Given the description of an element on the screen output the (x, y) to click on. 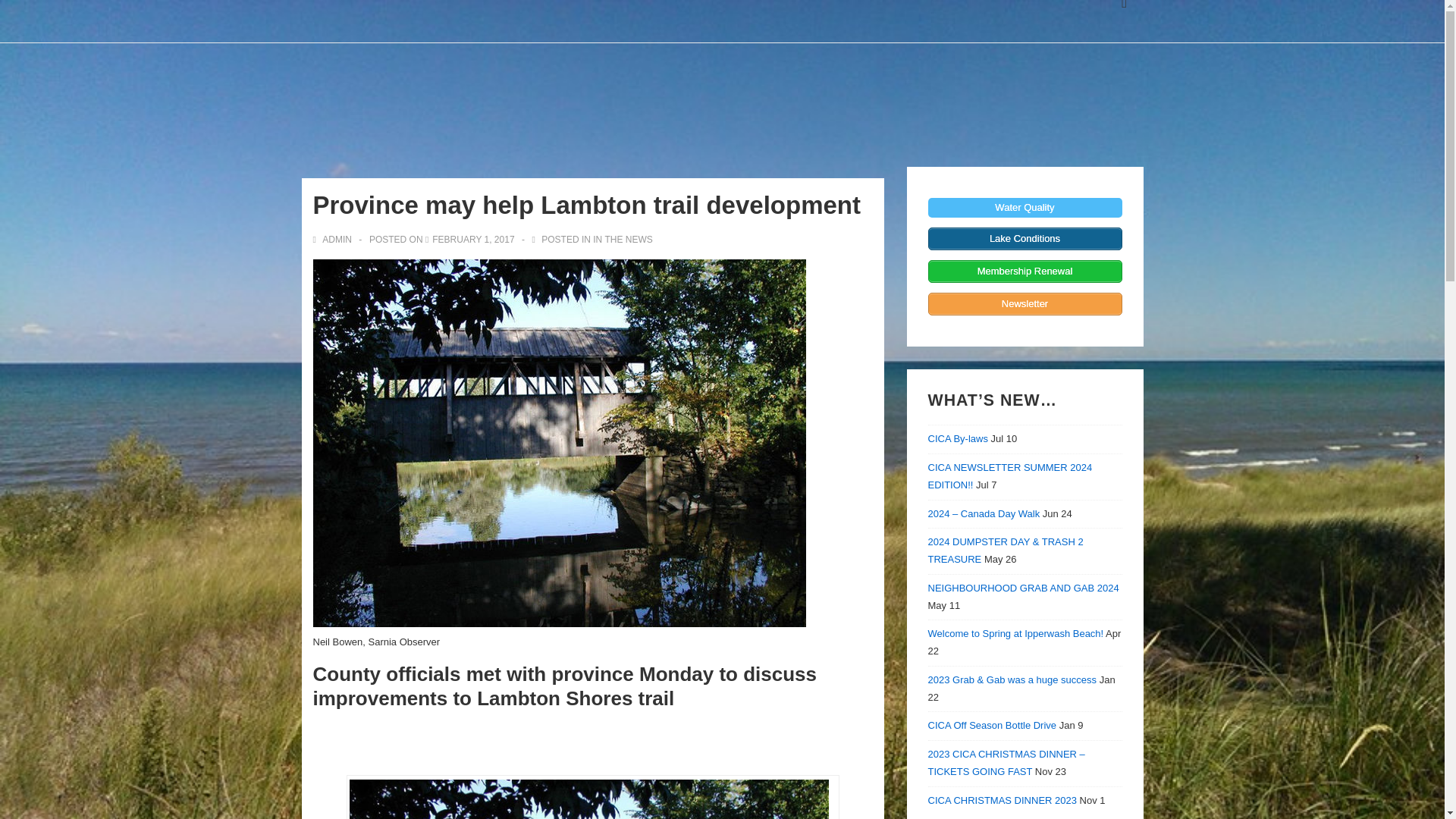
IN THE NEWS (622, 239)
Province may help Lambton trail development (472, 239)
ADMIN (333, 239)
FEBRUARY 1, 2017 (472, 239)
Join us to help improve Ipperwash (1025, 303)
View all posts by admin (333, 239)
Water Quality (1025, 207)
Lake Conditions (1025, 238)
